Given the description of an element on the screen output the (x, y) to click on. 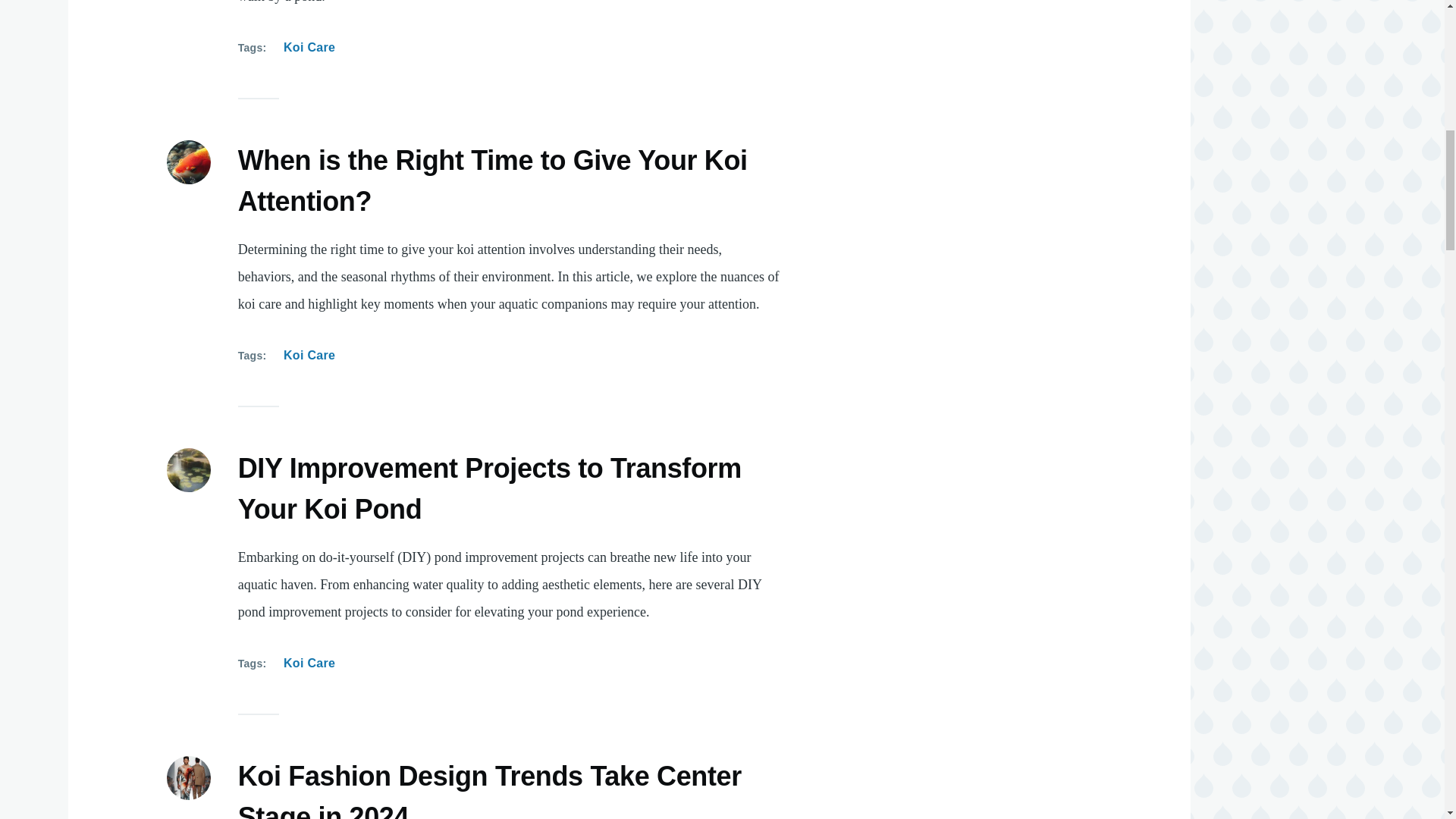
Koi Fashion Design Trends Take Center Stage in 2024 (489, 789)
Koi Care (308, 47)
Koi Care (308, 663)
Koi Care (308, 355)
When is the Right Time to Give Your Koi Attention? (493, 181)
DIY Improvement Projects to Transform Your Koi Pond (489, 489)
